Given the description of an element on the screen output the (x, y) to click on. 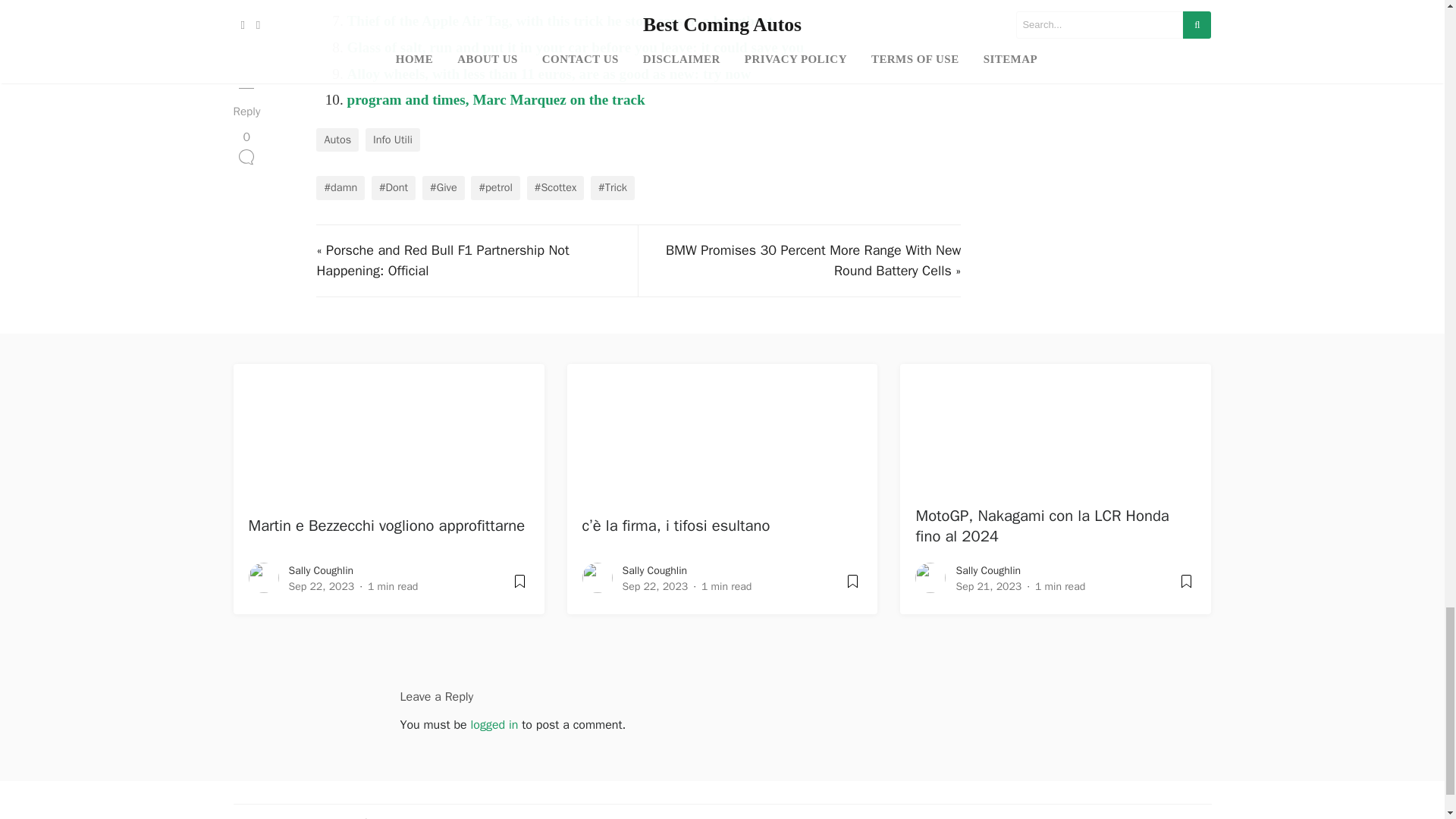
Info Utili (392, 139)
program and times, Marc Marquez on the track (495, 99)
Autos (336, 139)
